Given the description of an element on the screen output the (x, y) to click on. 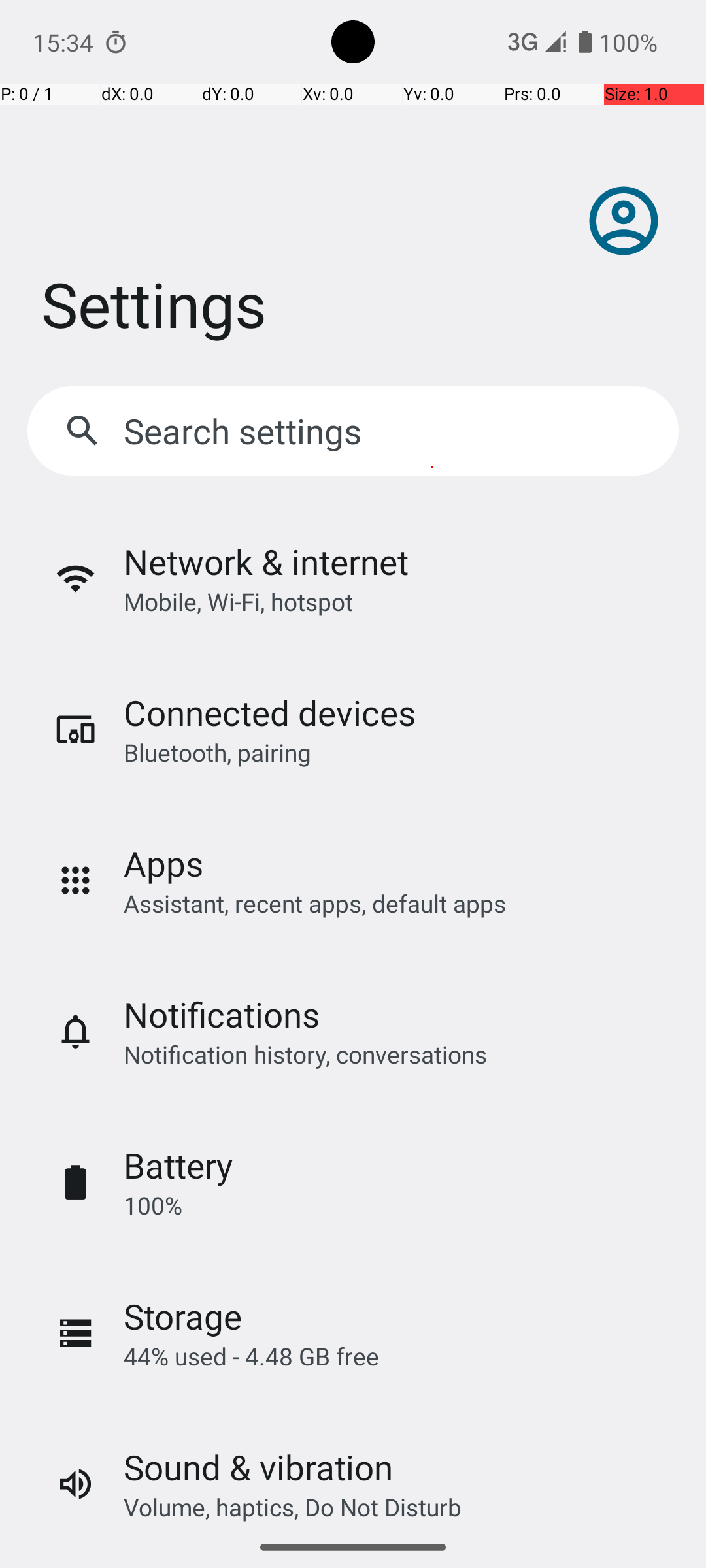
44% used - 4.48 GB free Element type: android.widget.TextView (251, 1355)
